Given the description of an element on the screen output the (x, y) to click on. 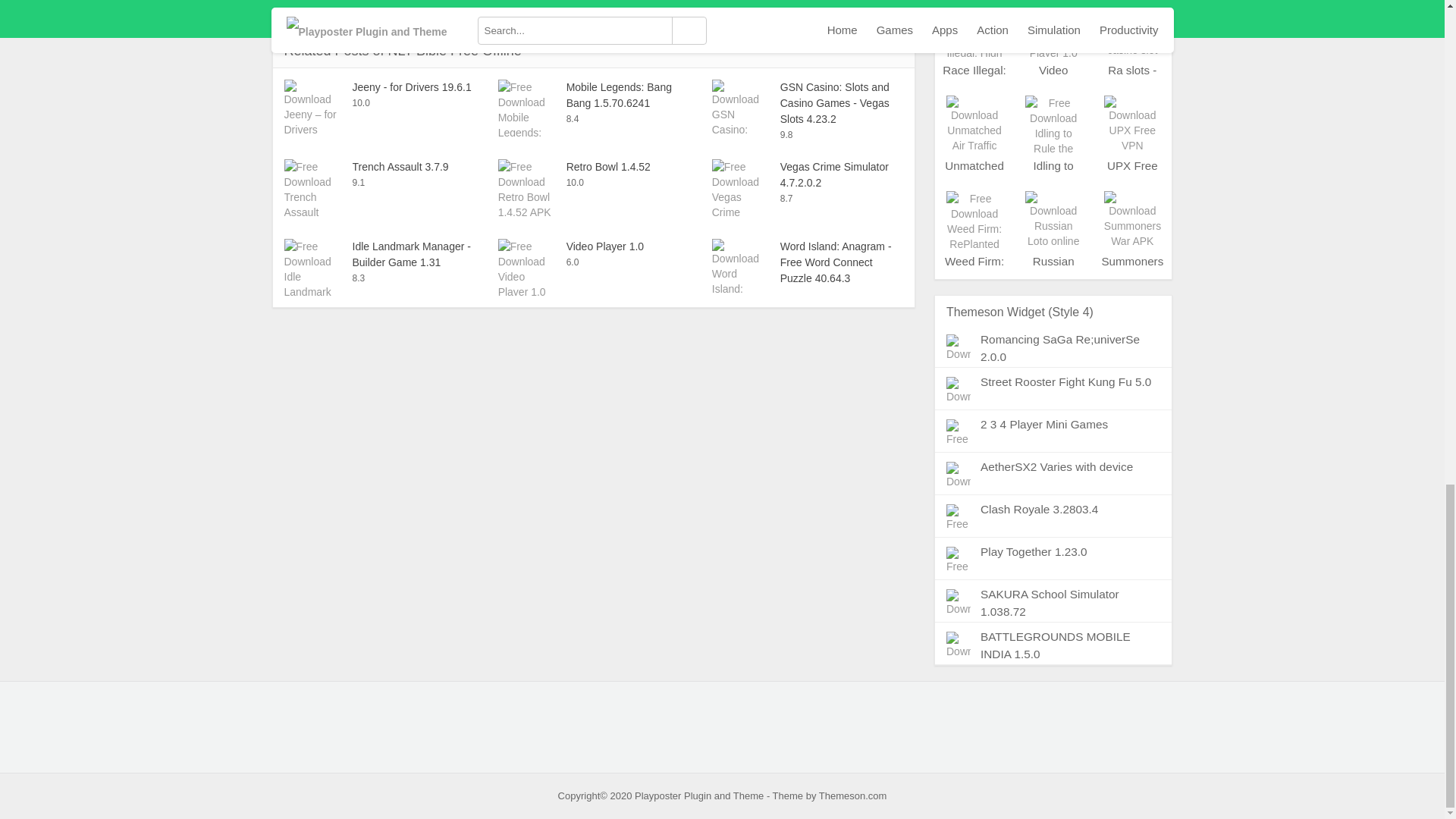
Video Player 1.0 (592, 246)
GSN Casino: Slots and Casino Games - Vegas Slots 4.23.2 (806, 103)
Jeeny - for Drivers 19.6.1 (378, 87)
Trench Assault 3.7.9 (378, 166)
Retro Bowl 1.4.52 (592, 166)
Word Island: Anagram - Free Word Connect Puzzle 40.64.3 (806, 262)
Vegas Crime Simulator 4.7.2.0.2 (806, 174)
Idle Landmark Manager - Builder Game 1.31 (378, 255)
Mobile Legends: Bang Bang 1.5.70.6241 (592, 95)
